Given the description of an element on the screen output the (x, y) to click on. 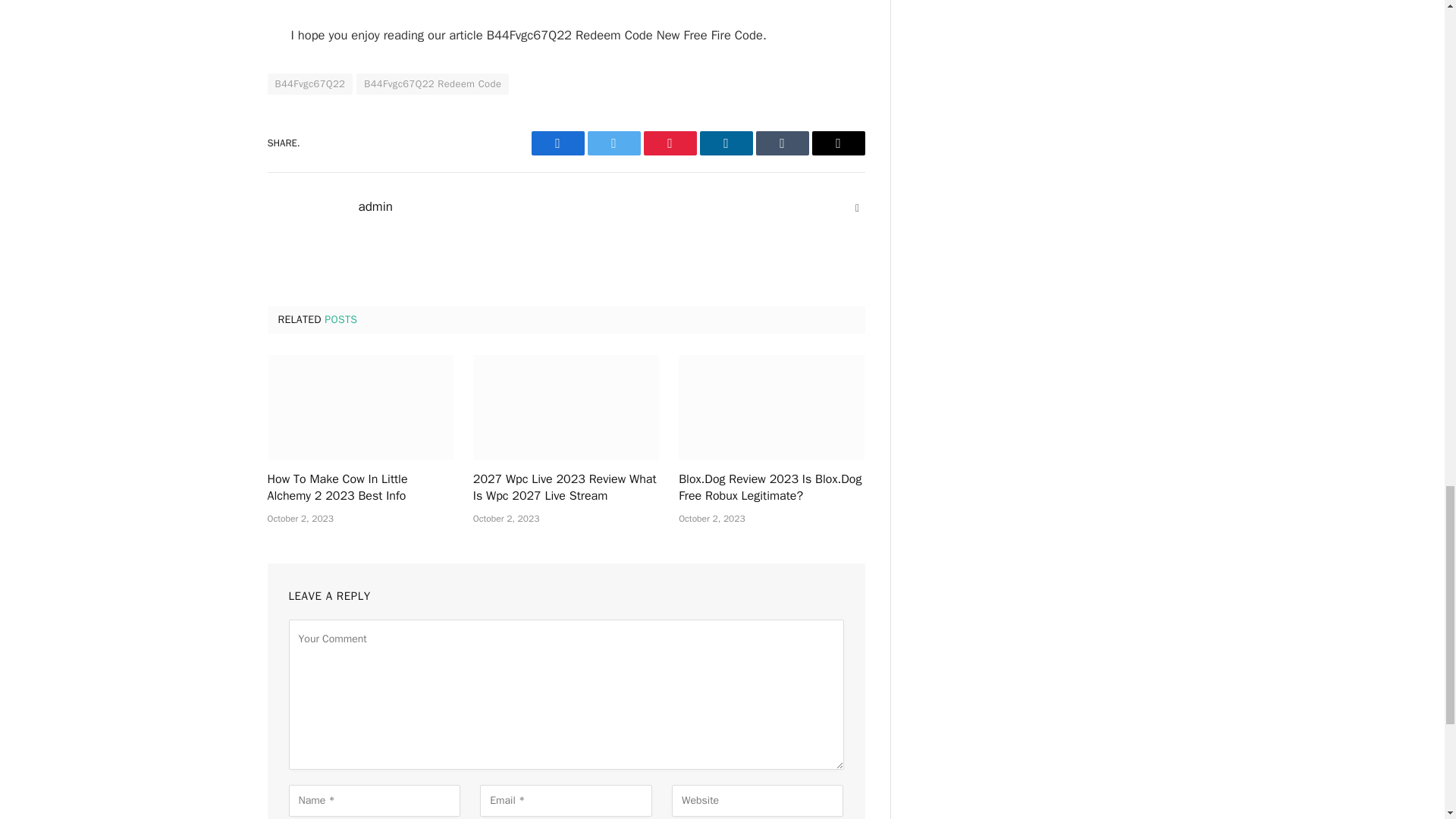
Share on LinkedIn (725, 143)
Share on Facebook (557, 143)
B44Fvgc67Q22 (309, 84)
Facebook (557, 143)
Share on Pinterest (669, 143)
B44Fvgc67Q22 Redeem Code (432, 84)
